Given the description of an element on the screen output the (x, y) to click on. 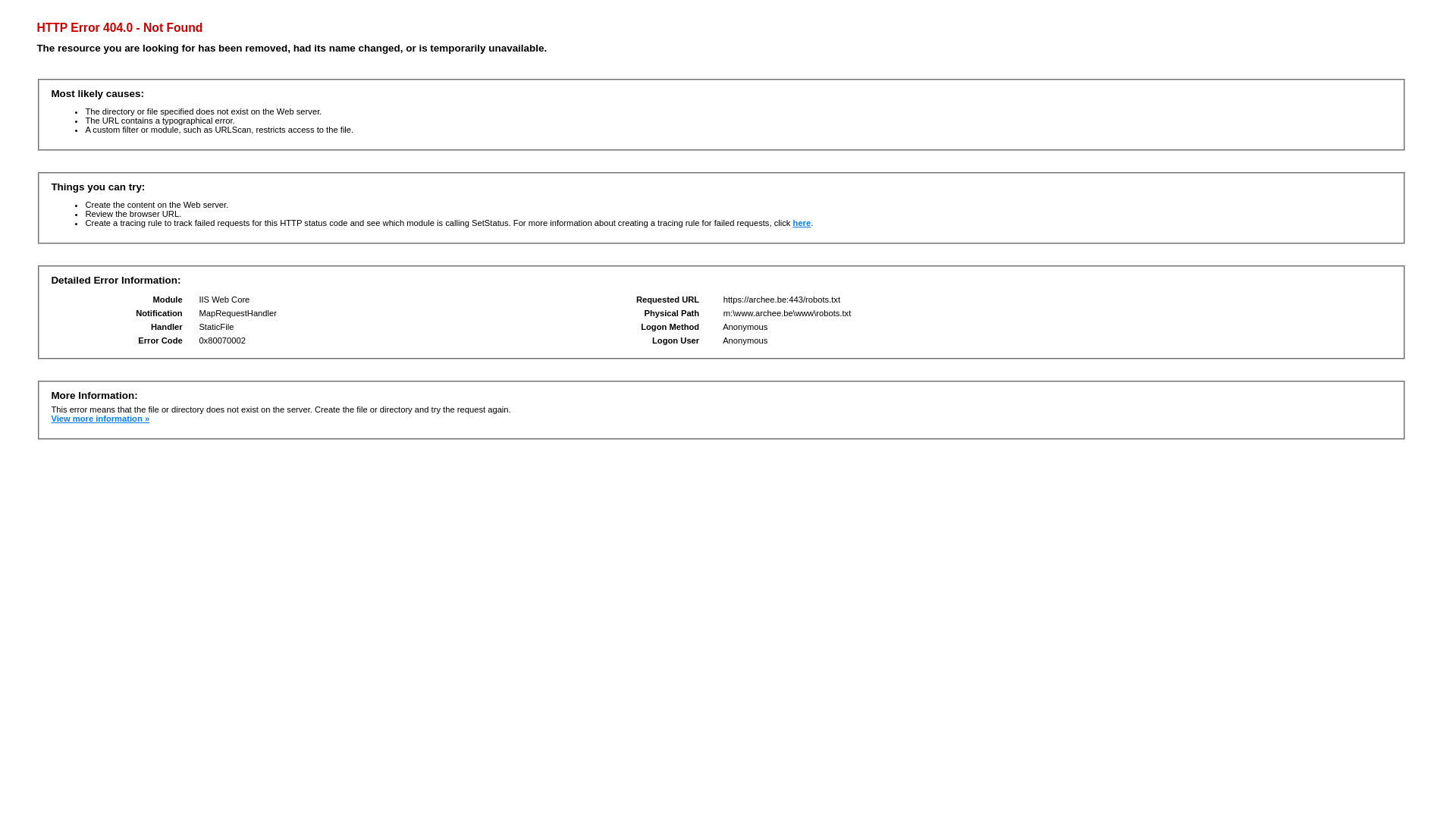
here Element type: text (802, 222)
